Given the description of an element on the screen output the (x, y) to click on. 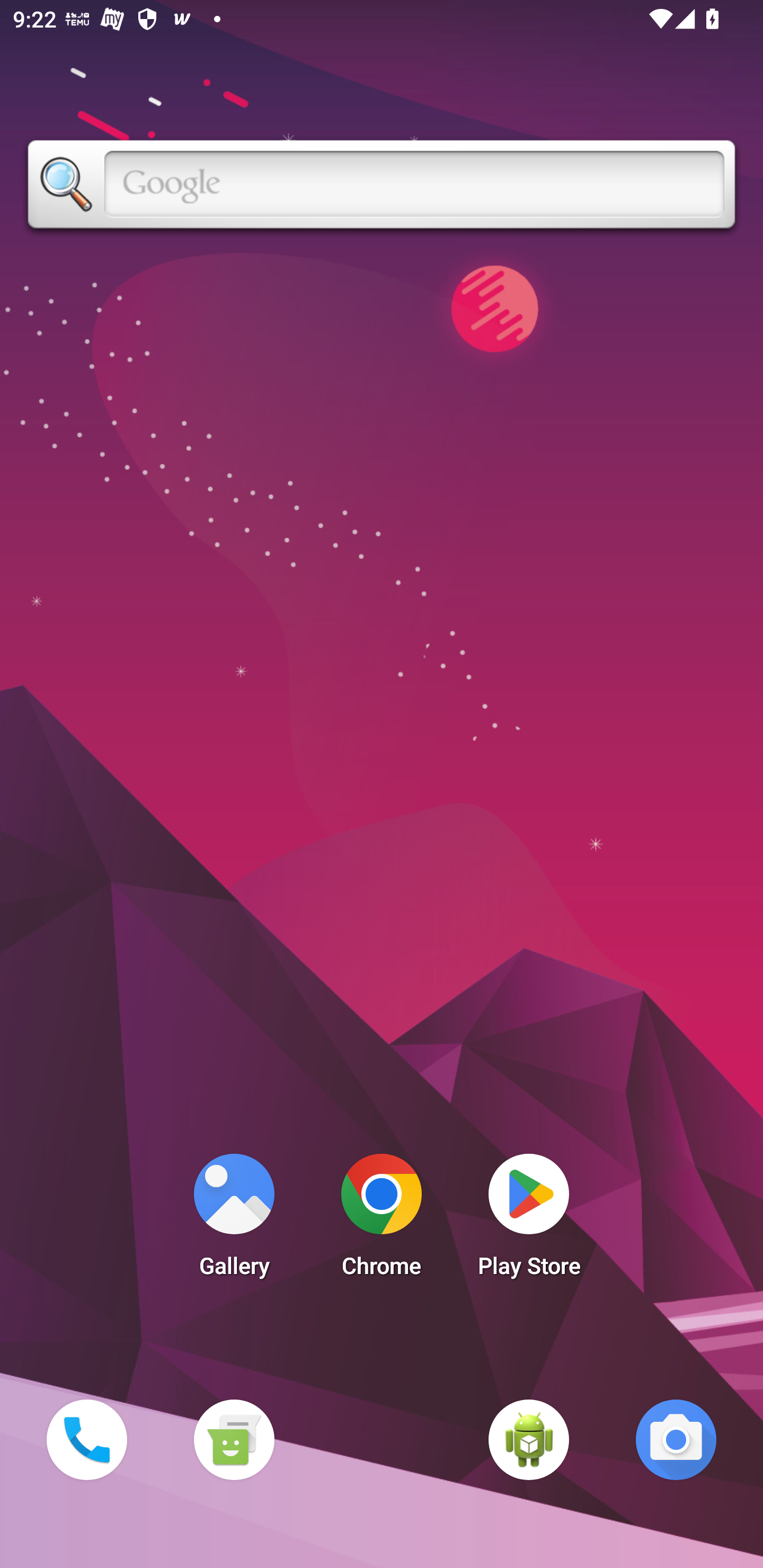
Gallery (233, 1220)
Chrome (381, 1220)
Play Store (528, 1220)
Phone (86, 1439)
Messaging (233, 1439)
WebView Browser Tester (528, 1439)
Camera (676, 1439)
